Given the description of an element on the screen output the (x, y) to click on. 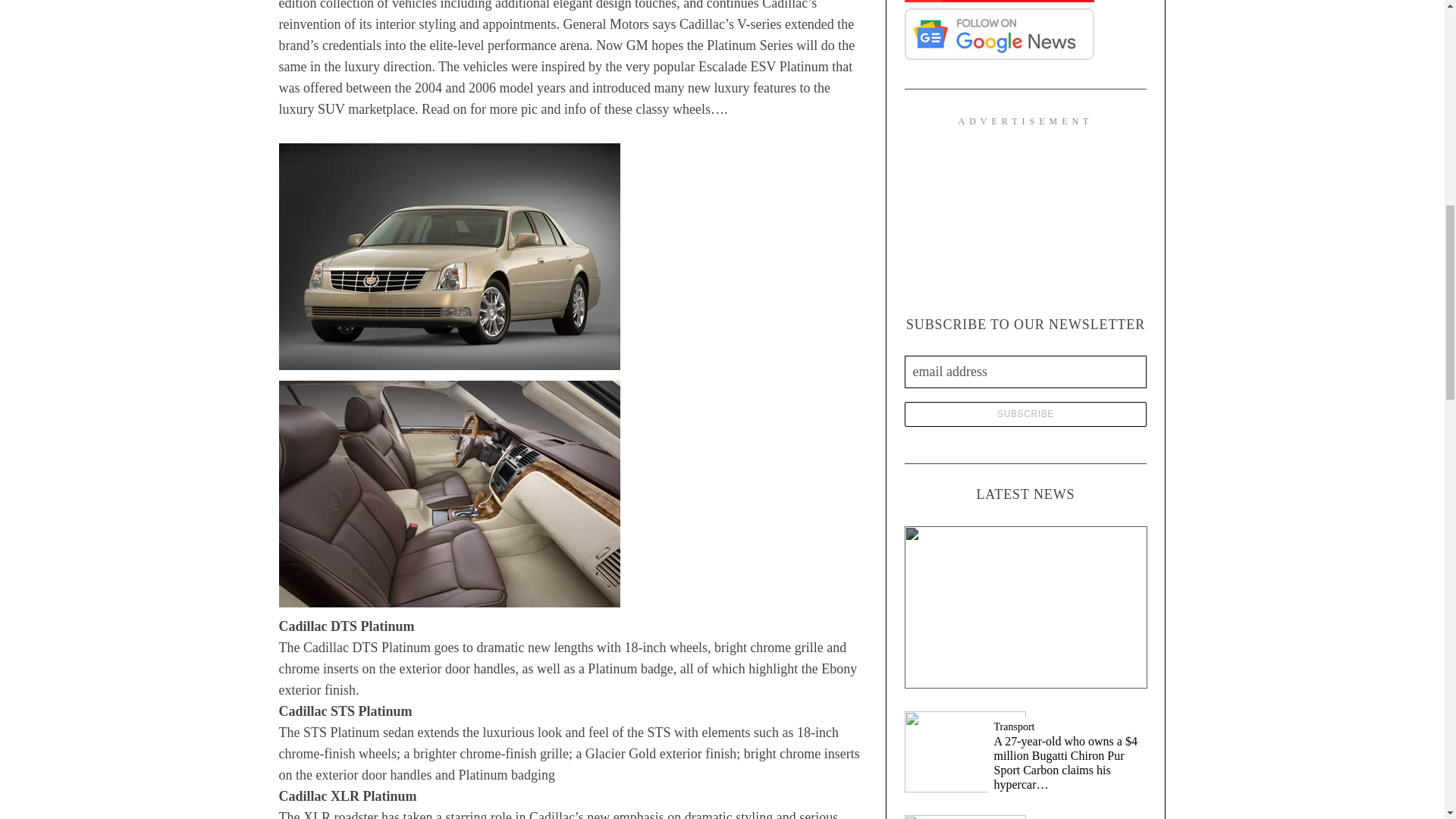
Subscribe (1025, 414)
